Given the description of an element on the screen output the (x, y) to click on. 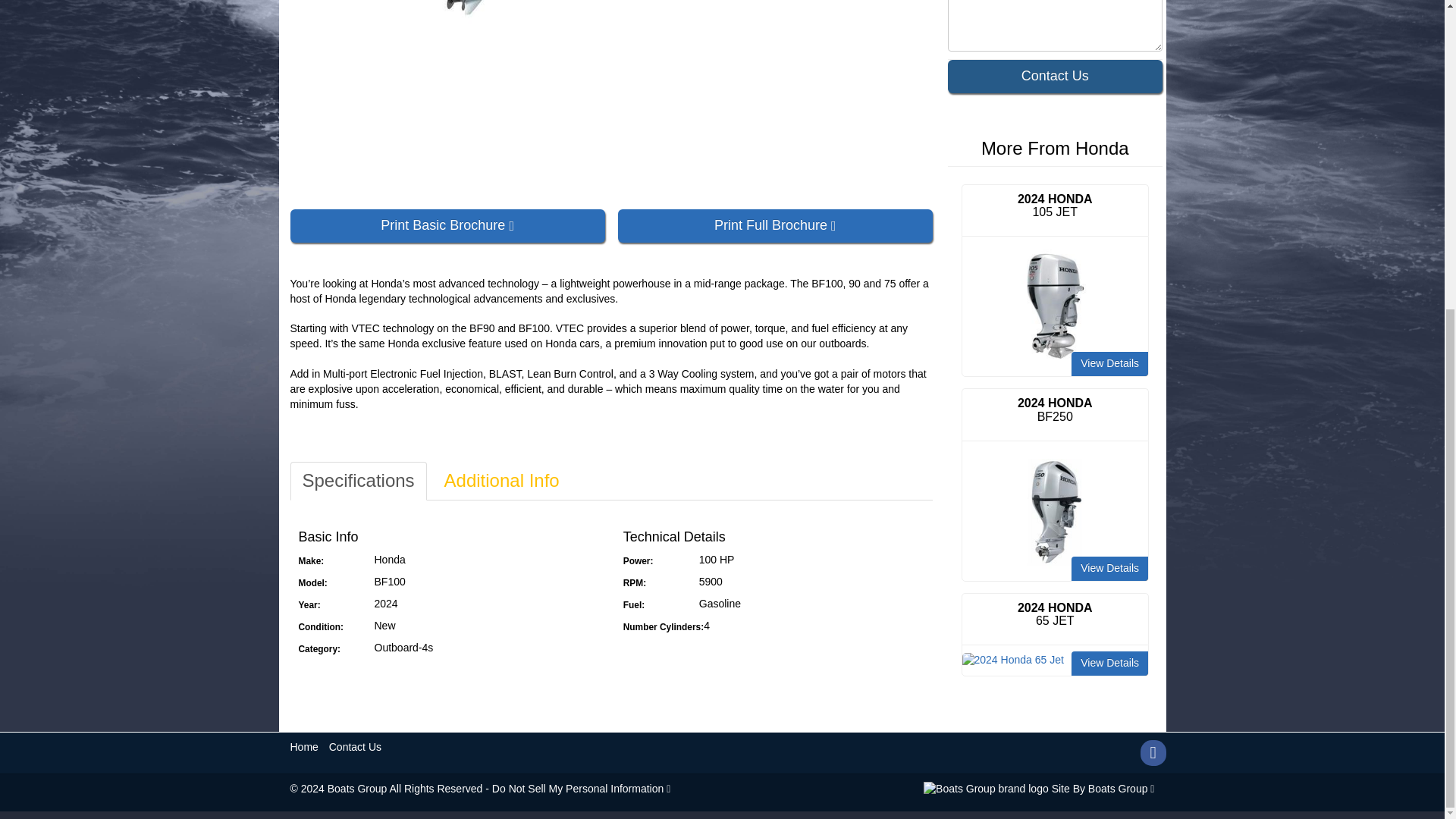
Print Full Brochure (775, 225)
Specifications (357, 480)
Print Basic Brochure (446, 225)
Additional Info (501, 480)
